Given the description of an element on the screen output the (x, y) to click on. 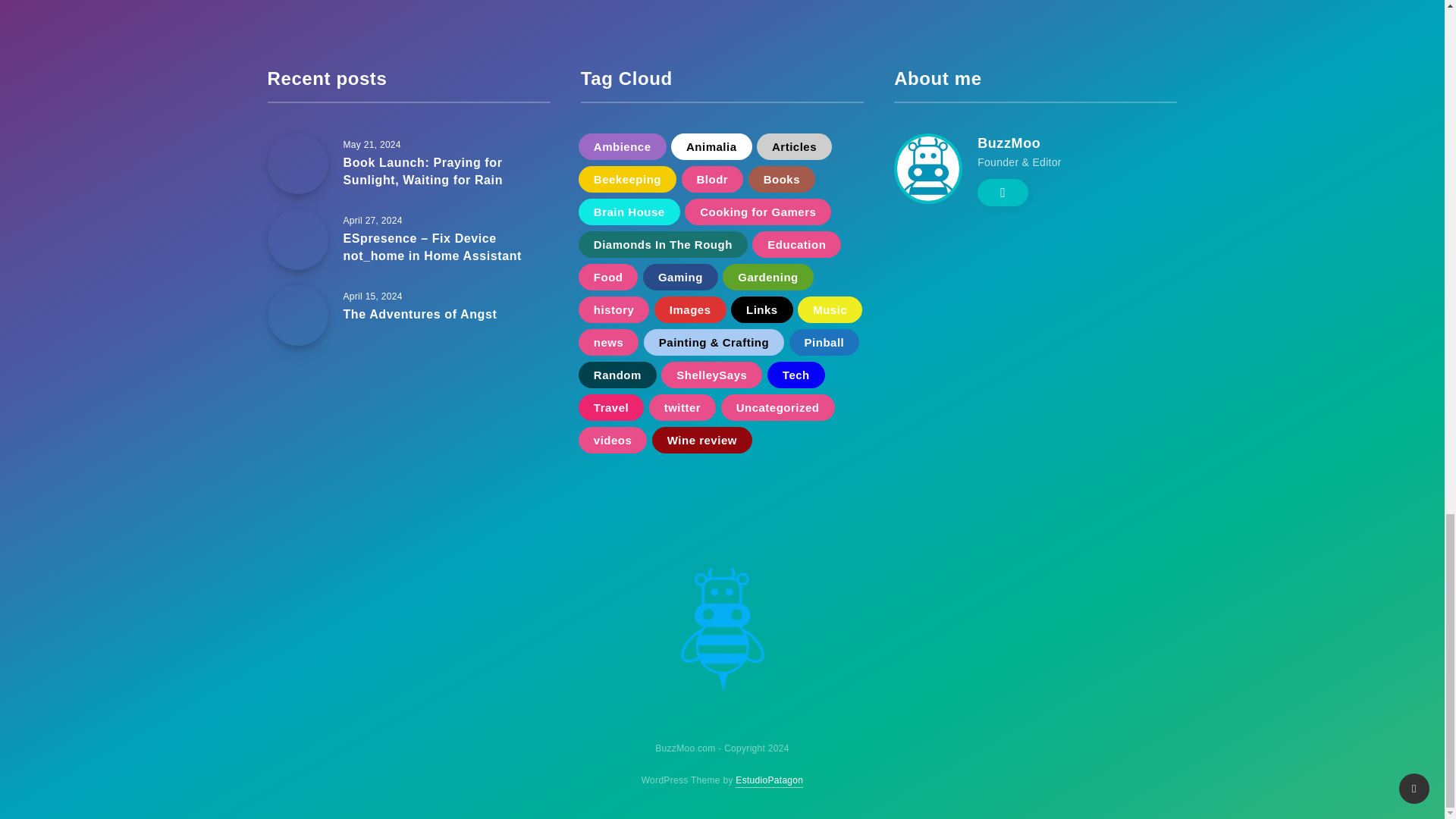
Random (617, 374)
history (613, 309)
Cooking for Gamers (757, 212)
Blodr (711, 179)
ShelleySays (711, 374)
Beekeeping (627, 179)
Images (689, 309)
Book Launch: Praying for Sunlight, Waiting for Rain (422, 173)
Powered with Breek (769, 780)
Gaming (680, 276)
Gardening (767, 276)
Music (829, 309)
Brain House (628, 212)
Food (608, 276)
news (608, 342)
